Given the description of an element on the screen output the (x, y) to click on. 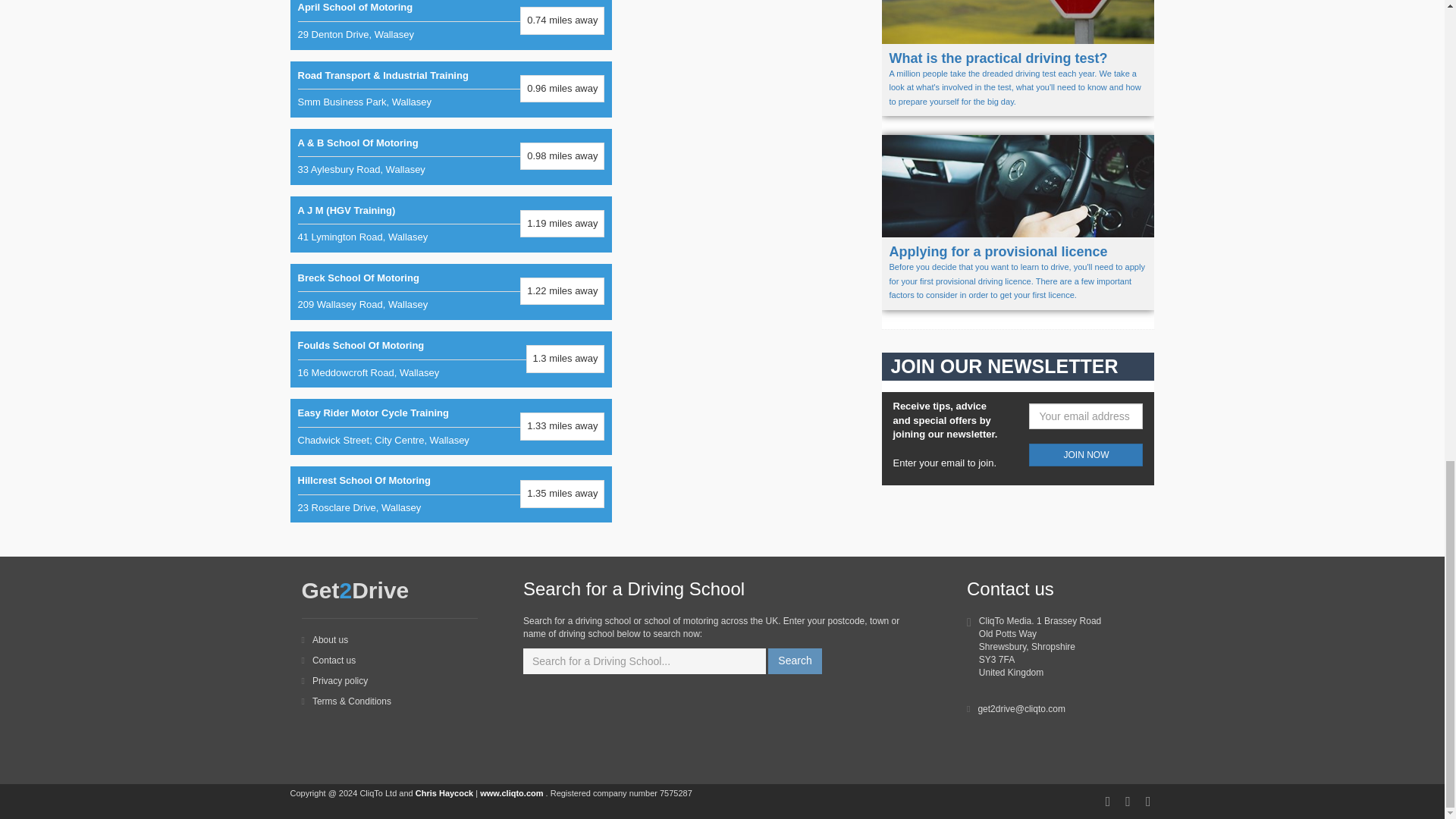
Search (450, 291)
Search (450, 24)
